Given the description of an element on the screen output the (x, y) to click on. 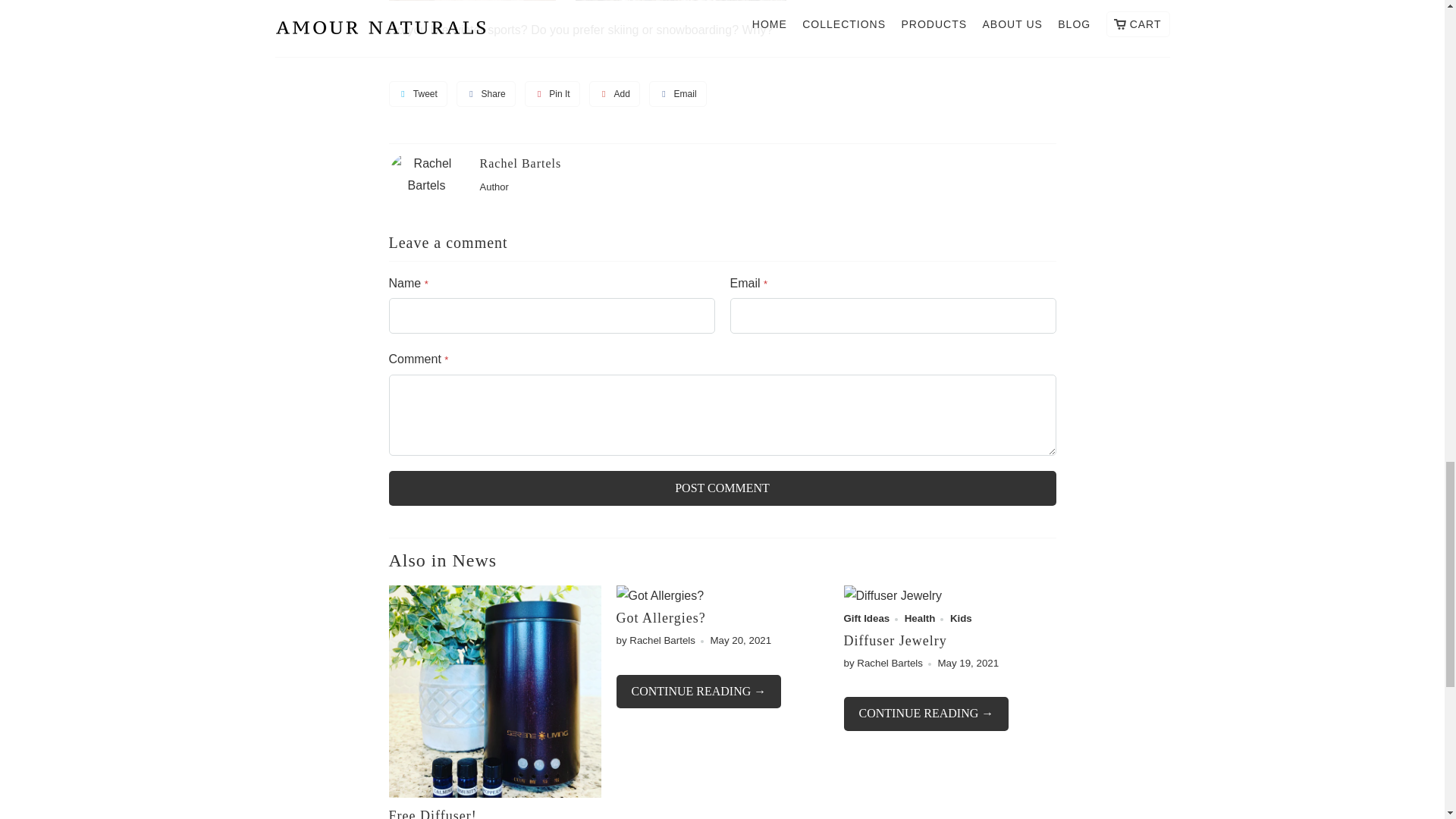
Got Allergies? (659, 617)
Add (614, 93)
Post comment (721, 488)
Free Diffuser! (432, 813)
Share this on Pinterest (551, 93)
Email this to a friend (677, 93)
Gift Ideas (866, 618)
Share this on Facebook (486, 93)
Kids (961, 618)
Email (677, 93)
